Given the description of an element on the screen output the (x, y) to click on. 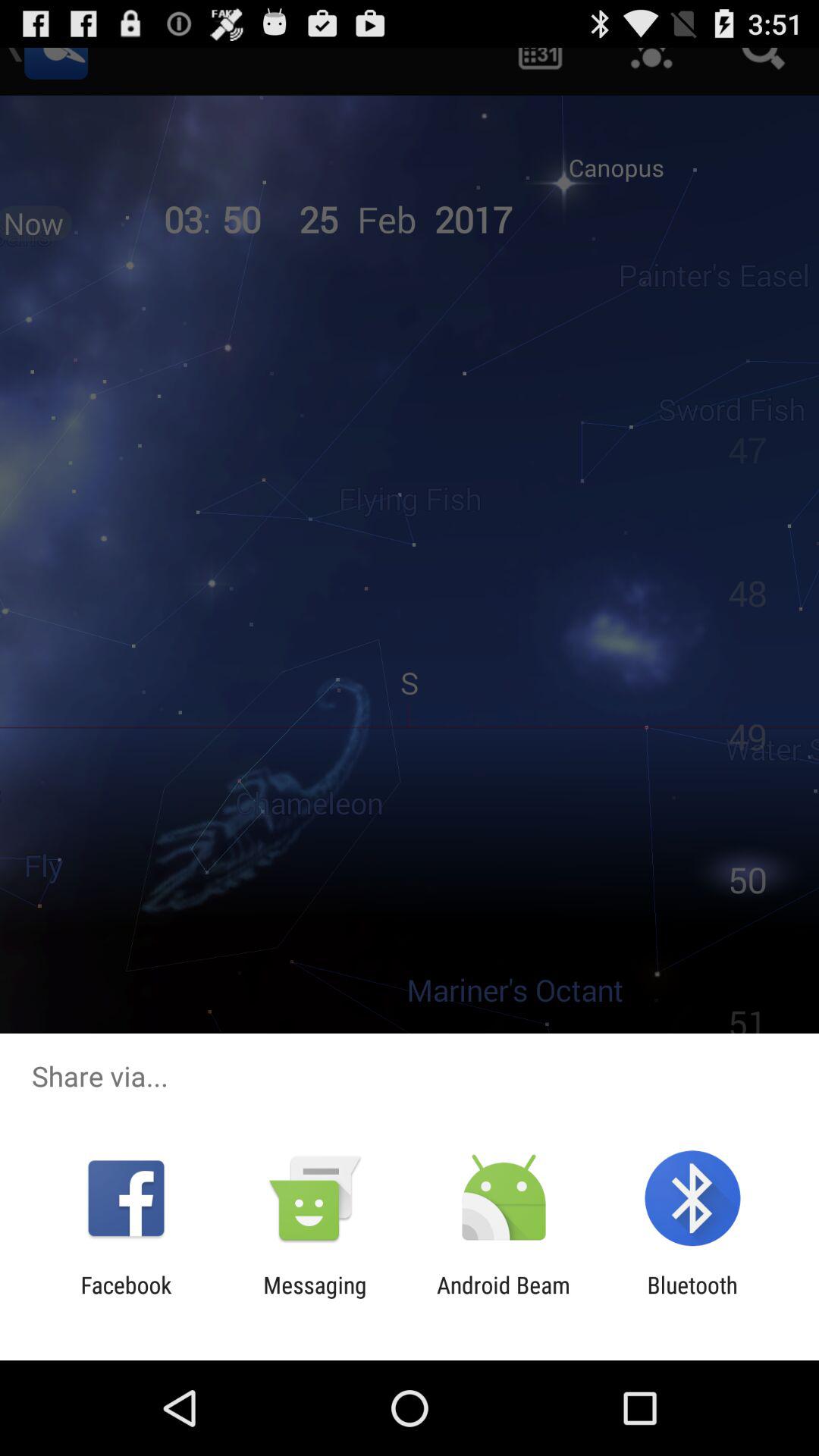
turn on the bluetooth (692, 1298)
